Given the description of an element on the screen output the (x, y) to click on. 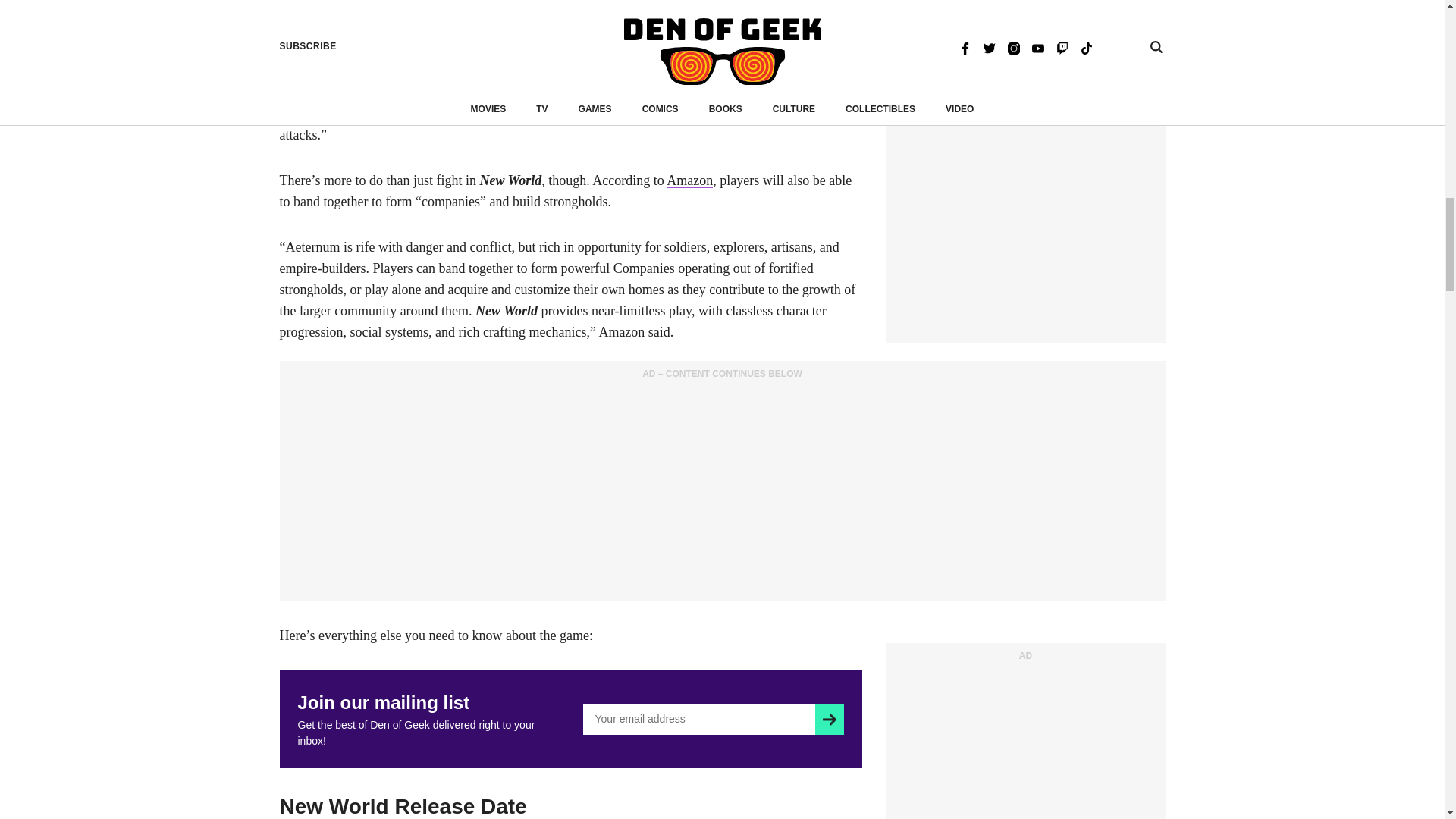
World of Warcraft (329, 6)
Everquest (438, 6)
Amazon (689, 180)
